Given the description of an element on the screen output the (x, y) to click on. 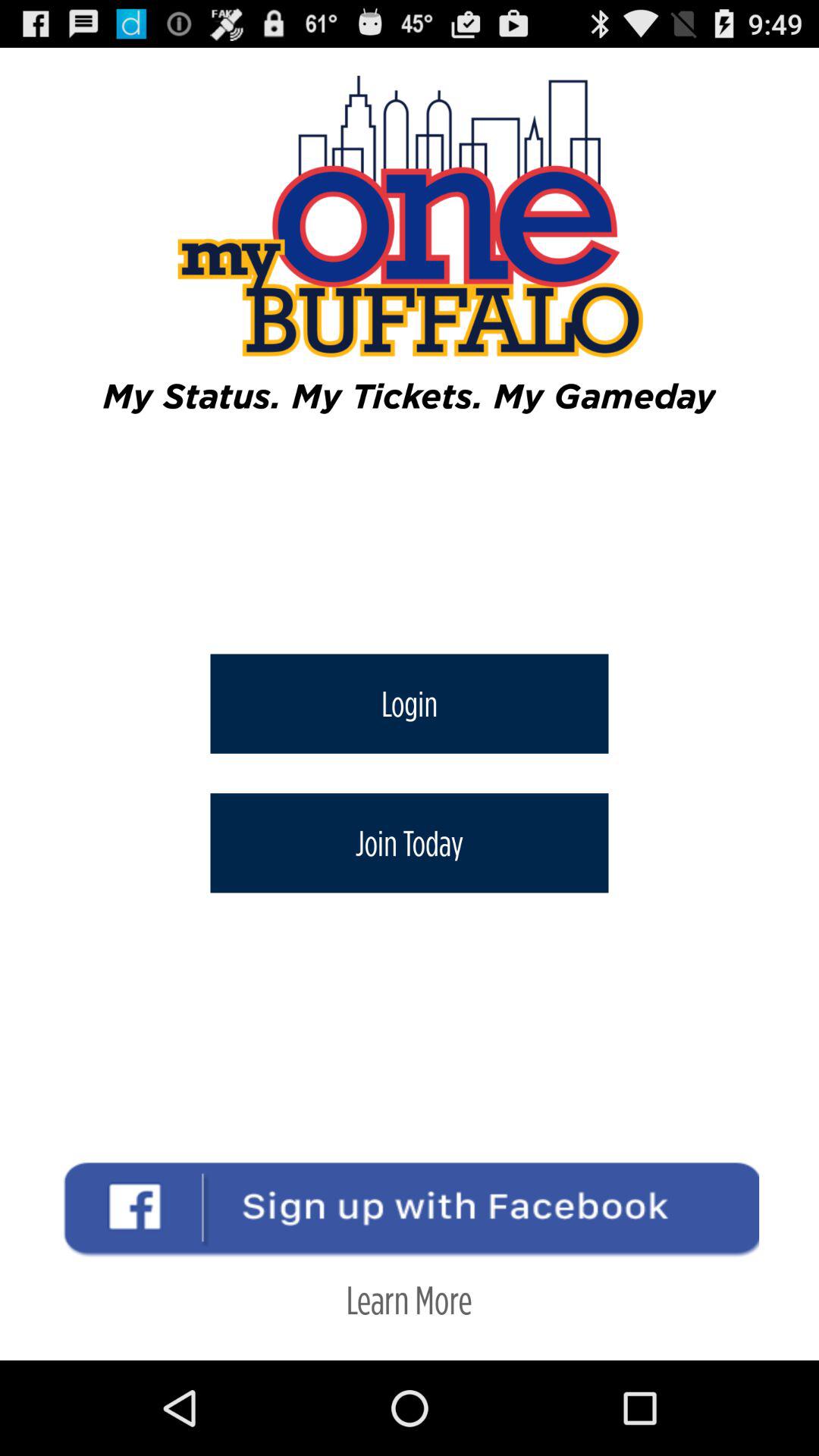
turn on learn more app (409, 1299)
